Given the description of an element on the screen output the (x, y) to click on. 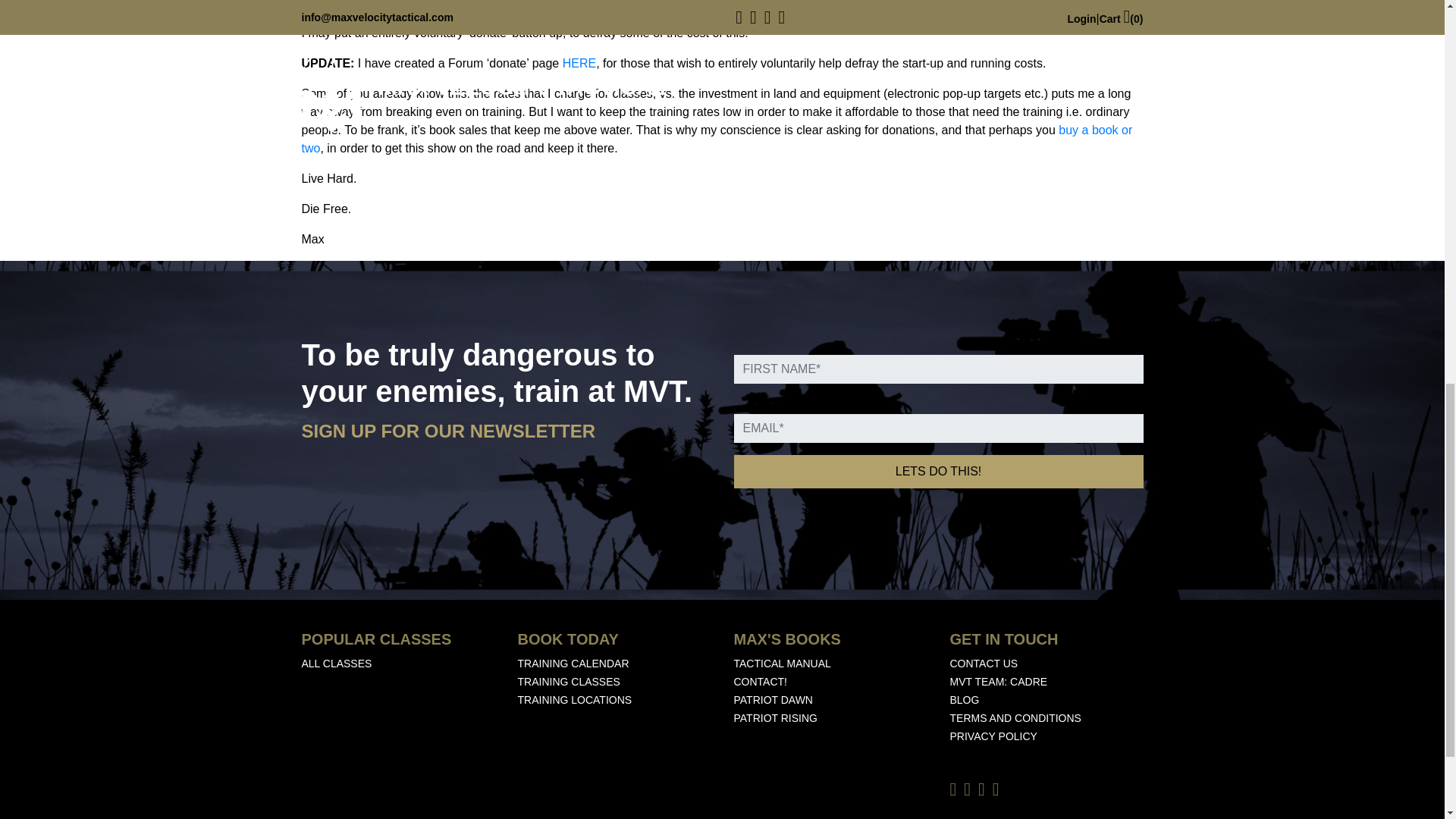
LETS DO THIS! (937, 471)
